Given the description of an element on the screen output the (x, y) to click on. 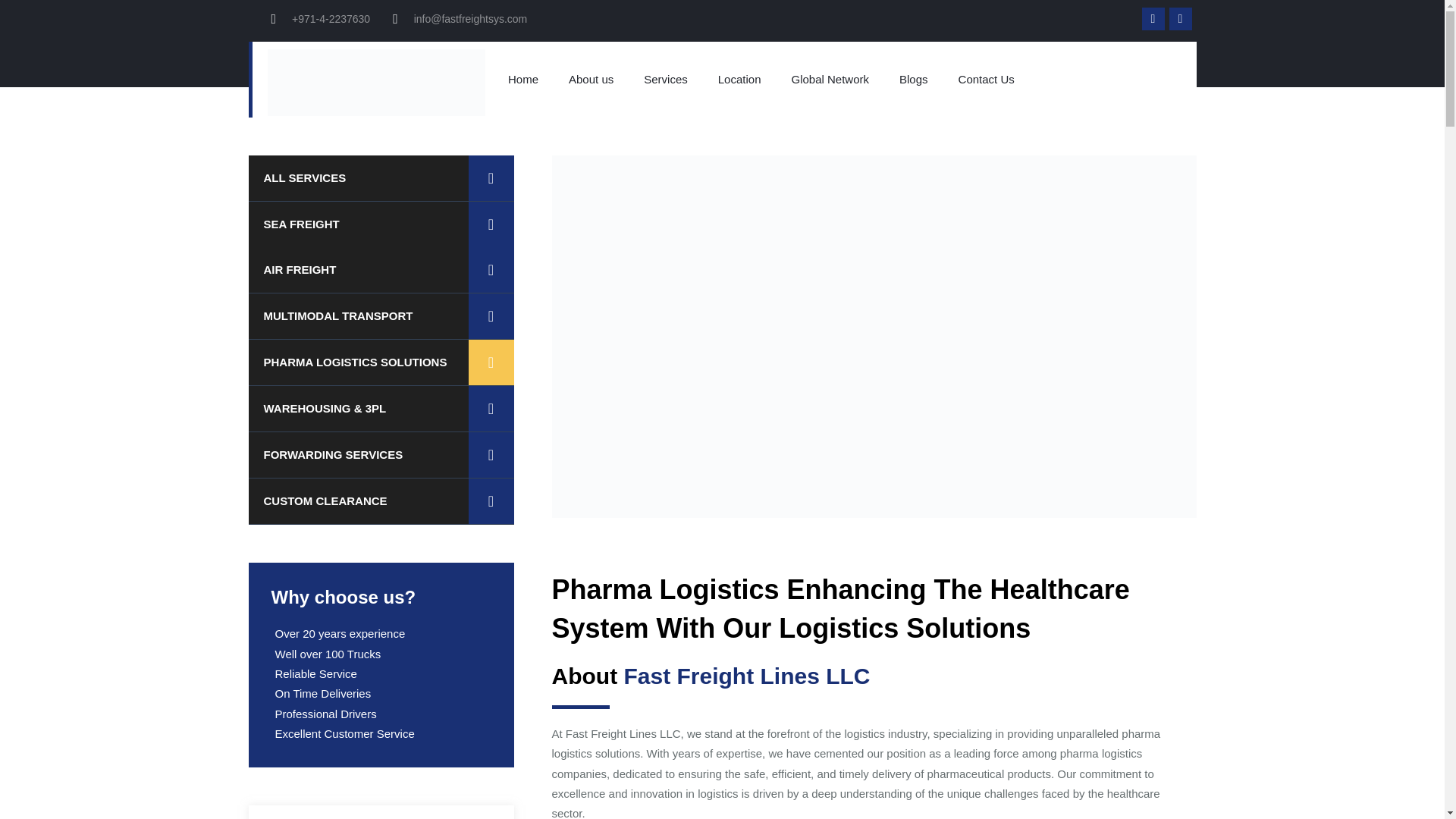
Contact Us (986, 79)
Location (739, 79)
Services (665, 79)
About us (590, 79)
Global Network (829, 79)
Home (523, 79)
Blogs (913, 79)
